Given the description of an element on the screen output the (x, y) to click on. 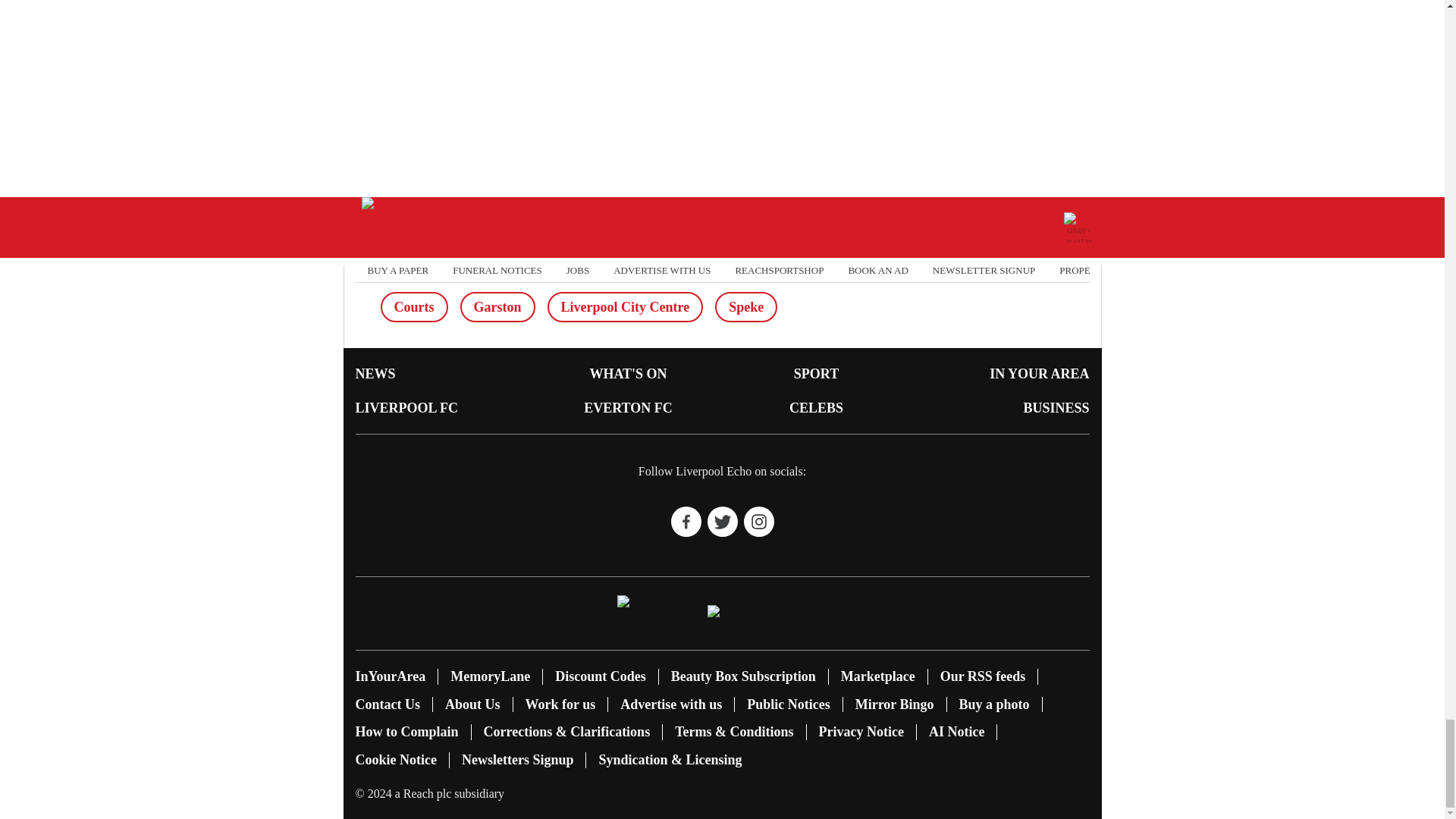
Courts (414, 306)
NEWS (374, 373)
Garston (497, 306)
Speke (745, 306)
Liverpool City Centre (625, 306)
